Given the description of an element on the screen output the (x, y) to click on. 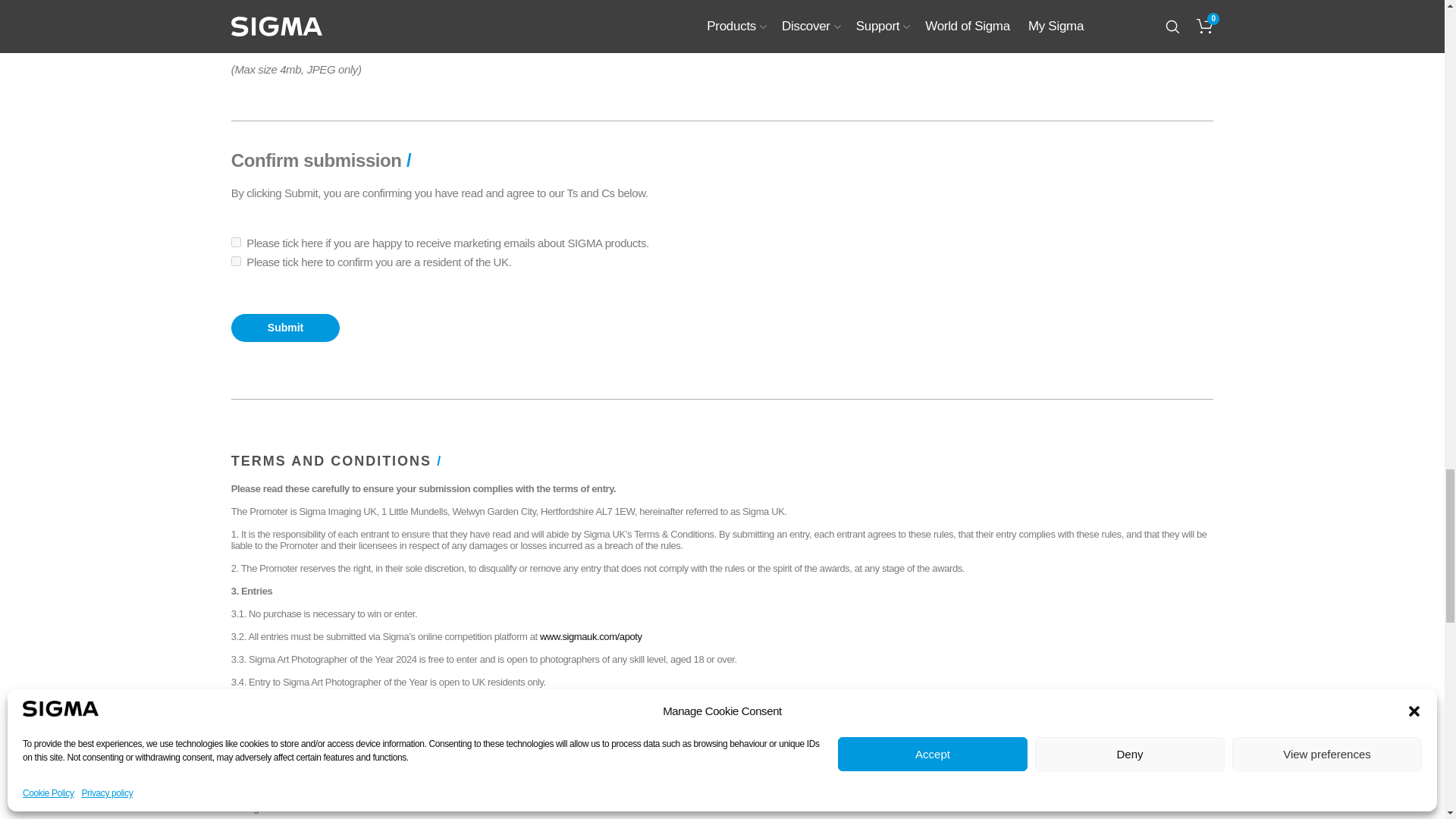
Submit (285, 327)
on (236, 261)
on (236, 242)
